Given the description of an element on the screen output the (x, y) to click on. 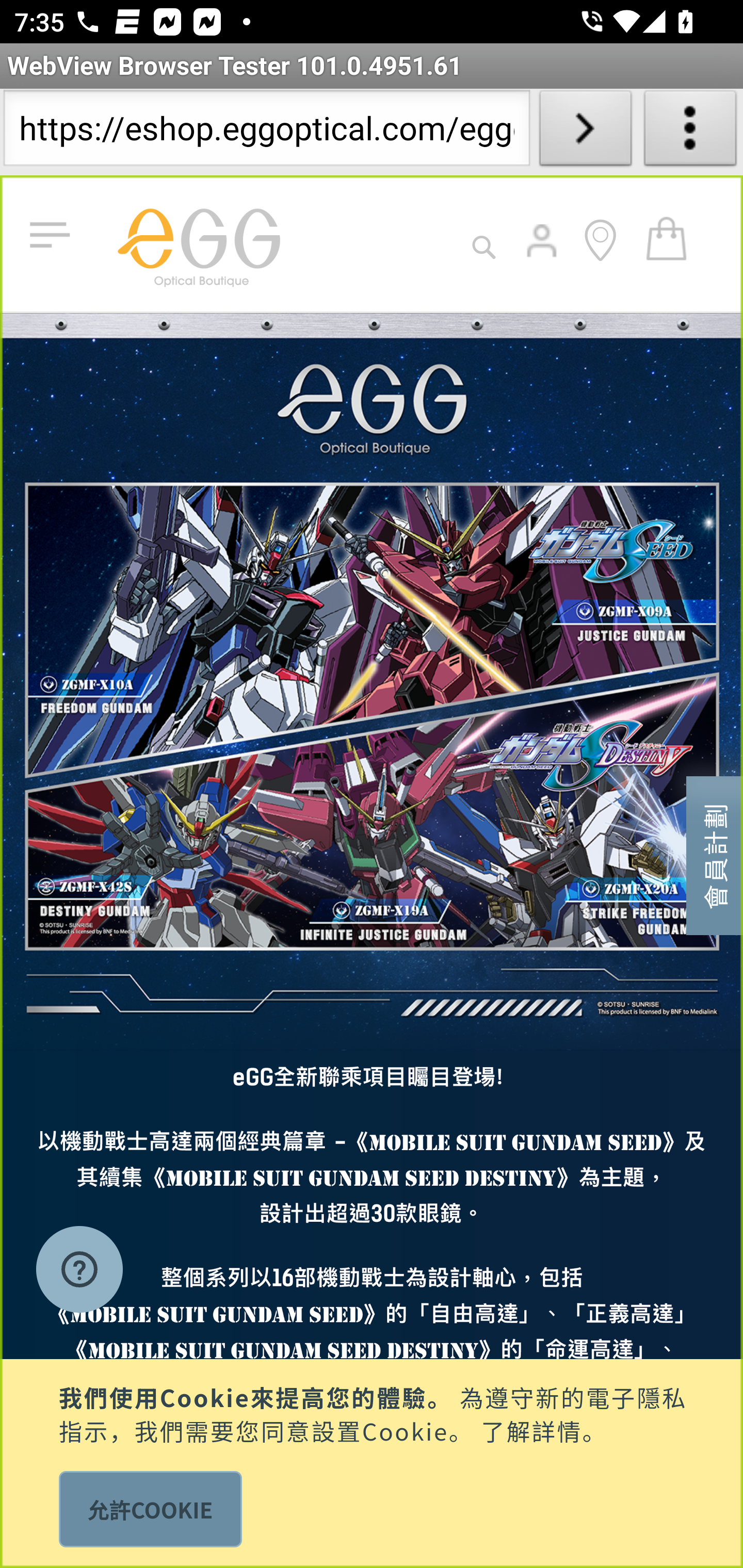
Load URL (585, 132)
About WebView (690, 132)
store logo eGG 網上商店 (198, 243)
切換導航 (54, 235)
我的購物車 (666, 237)
login (543, 254)
會員計劃 (714, 854)
Opens a widget where you can find more information (79, 1270)
了解詳情 (531, 1429)
允許COOKIE (149, 1509)
